Given the description of an element on the screen output the (x, y) to click on. 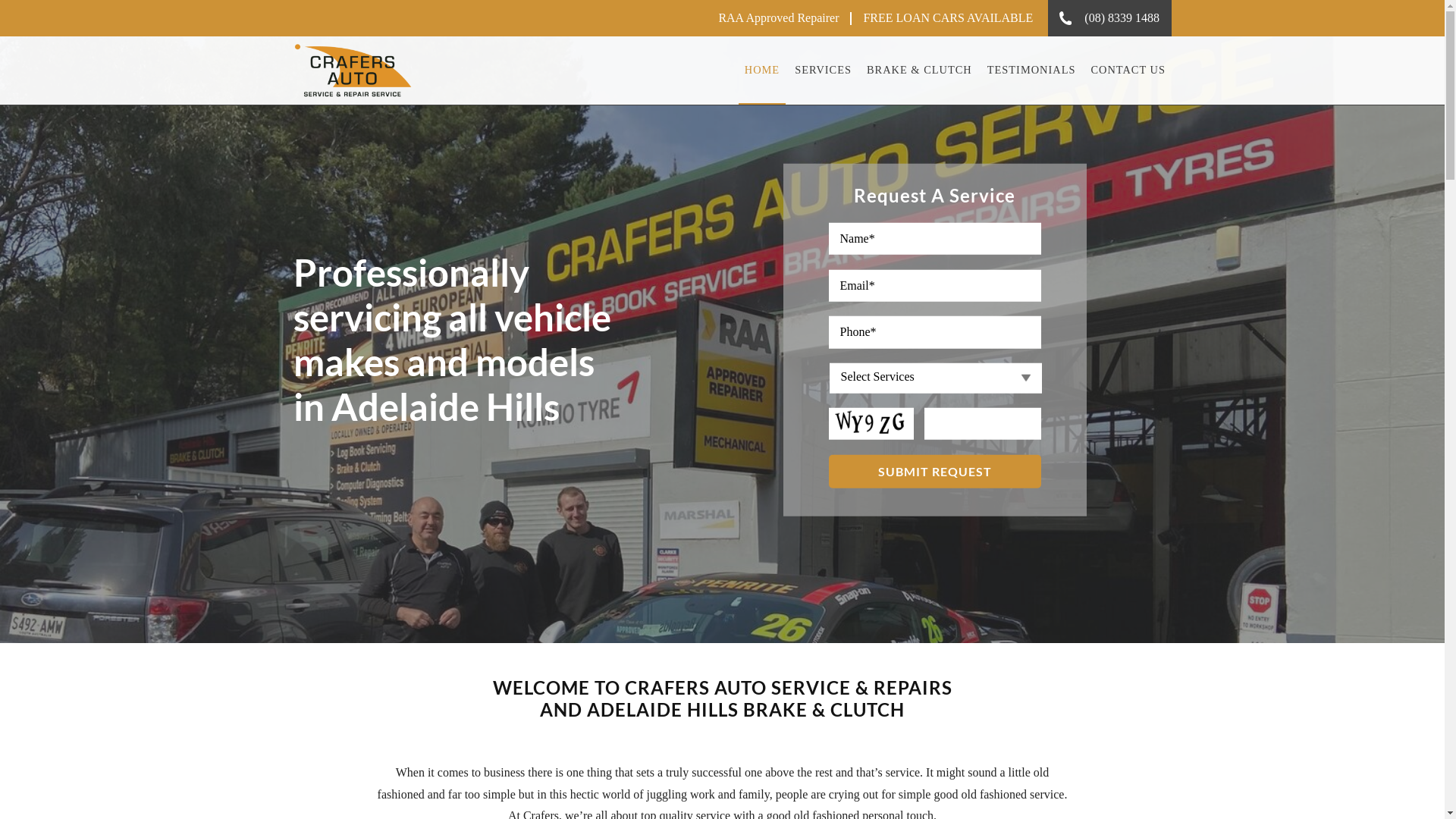
CONTACT US Element type: text (1127, 70)
Submit request Element type: text (934, 470)
(08) 8339 1488 Element type: text (1109, 18)
Skip to content Element type: text (0, 0)
HOME Element type: text (761, 70)
SERVICES Element type: text (822, 70)
TESTIMONIALS Element type: text (1031, 70)
CRAFERS AUTO Element type: text (365, 70)
BRAKE & CLUTCH Element type: text (919, 70)
